Given the description of an element on the screen output the (x, y) to click on. 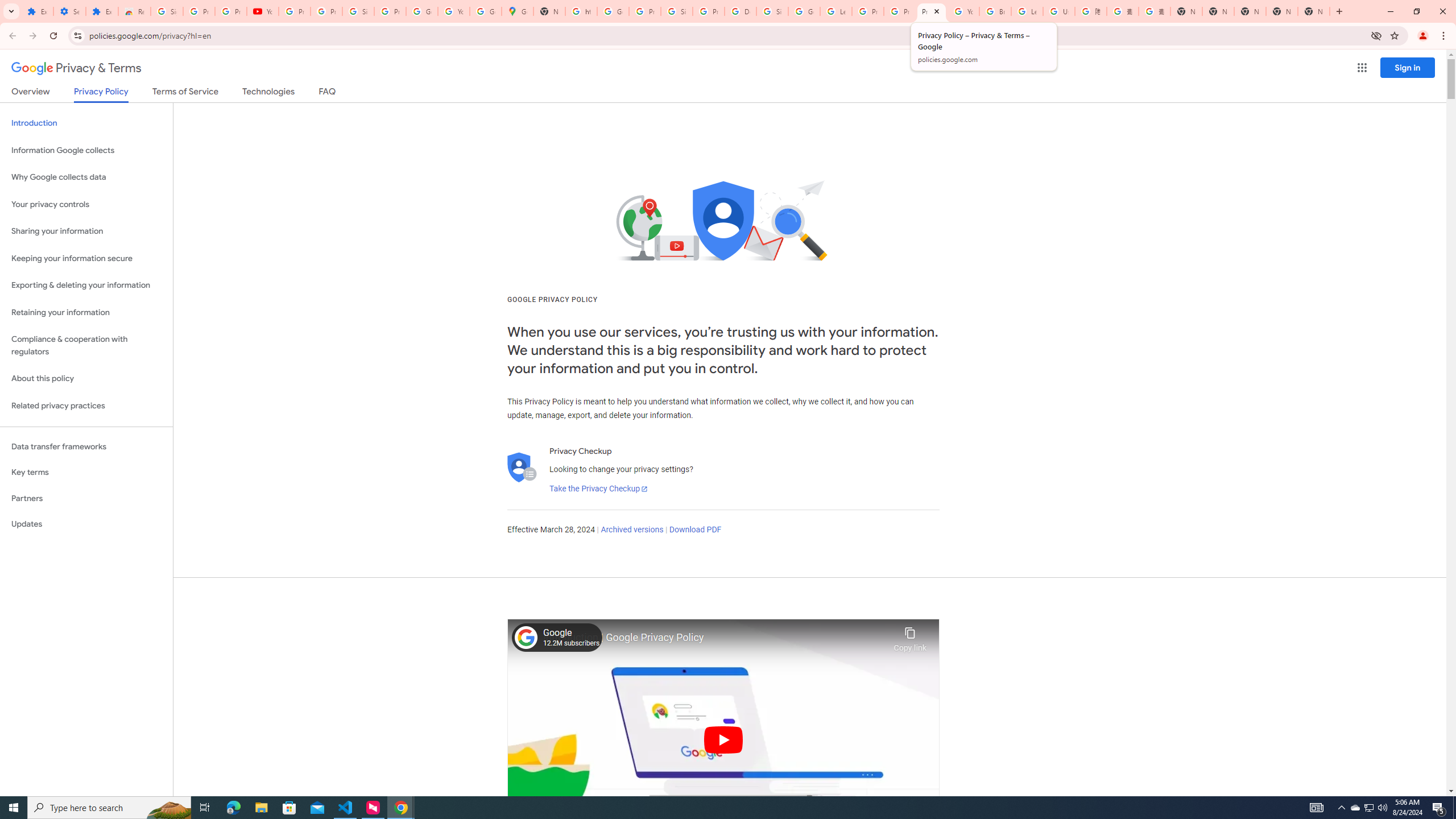
Google Account (421, 11)
FAQ (327, 93)
Partners (86, 497)
Download PDF (695, 529)
Exporting & deleting your information (86, 284)
Technologies (268, 93)
Related privacy practices (86, 405)
Settings (69, 11)
Privacy & Terms (76, 68)
Your privacy controls (86, 204)
